Given the description of an element on the screen output the (x, y) to click on. 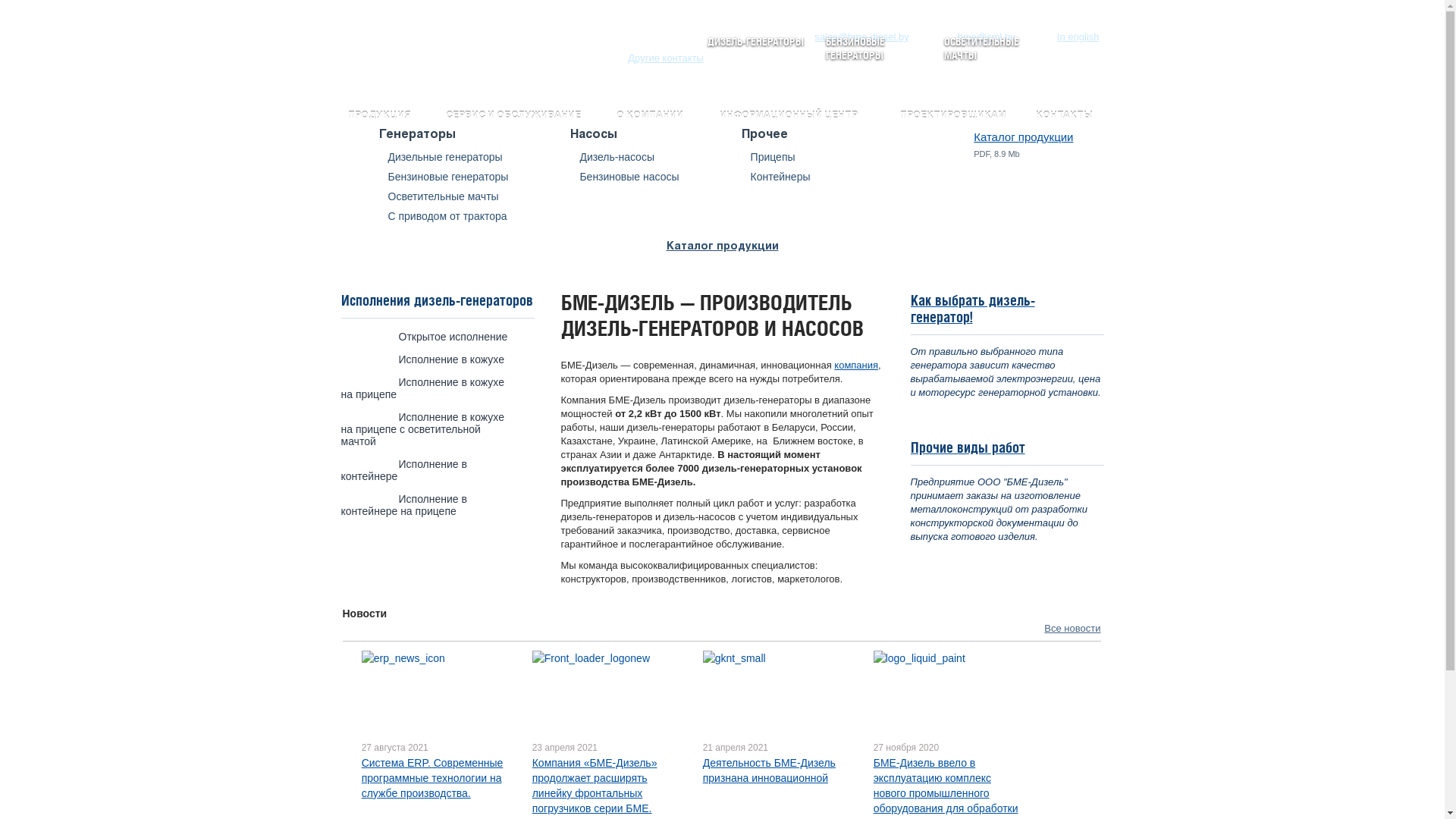
bme@sml.by Element type: text (976, 36)
sales@bme-diesel.by Element type: text (851, 36)
In english Element type: text (1078, 36)
